Given the description of an element on the screen output the (x, y) to click on. 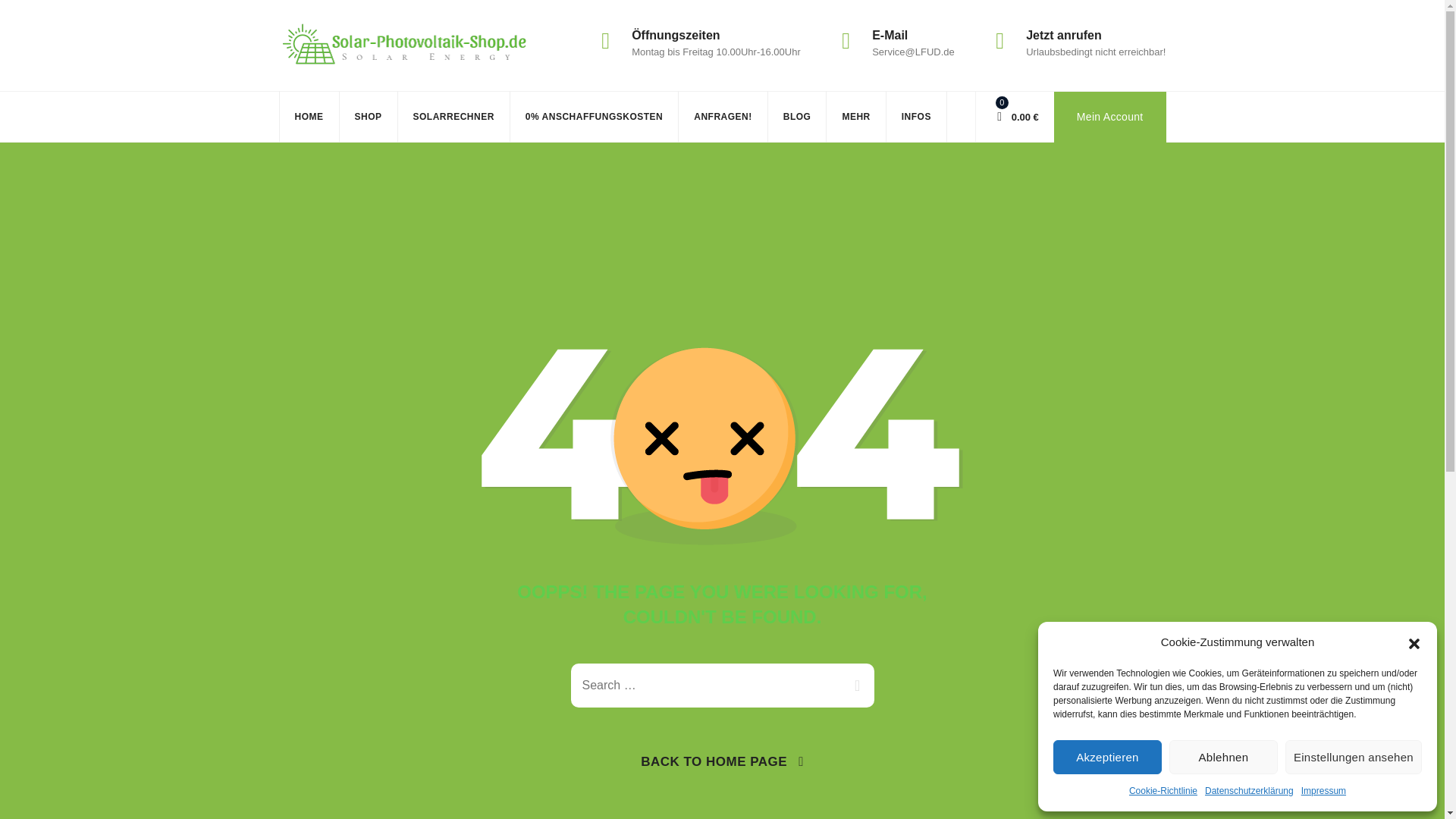
Cookie-Richtlinie (1162, 791)
Einstellungen ansehen (1353, 756)
Ablehnen (1223, 756)
Akzeptieren (1106, 756)
Impressum (1323, 791)
Solar-Photovoltaik-Shop (405, 44)
